Given the description of an element on the screen output the (x, y) to click on. 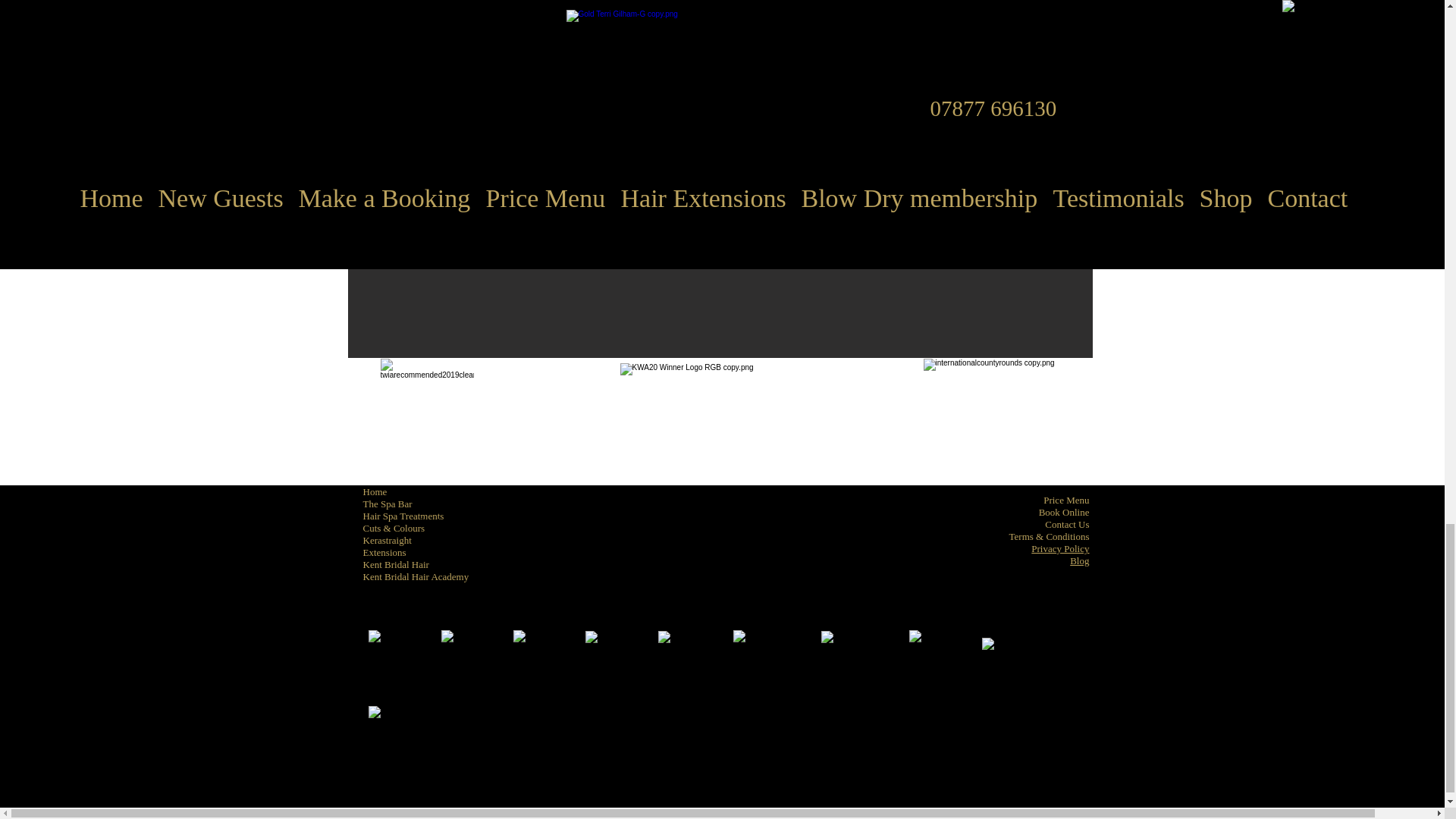
Kent Bridal Hair (395, 564)
Contact Us (1067, 523)
Blog (1079, 560)
Home (374, 491)
Hair Spa Treatments (403, 515)
Privacy Policy (1059, 548)
Kent Bridal Hair Academy (415, 576)
The Spa Bar (387, 503)
Book Online (1064, 511)
Price Menu (1066, 500)
